Given the description of an element on the screen output the (x, y) to click on. 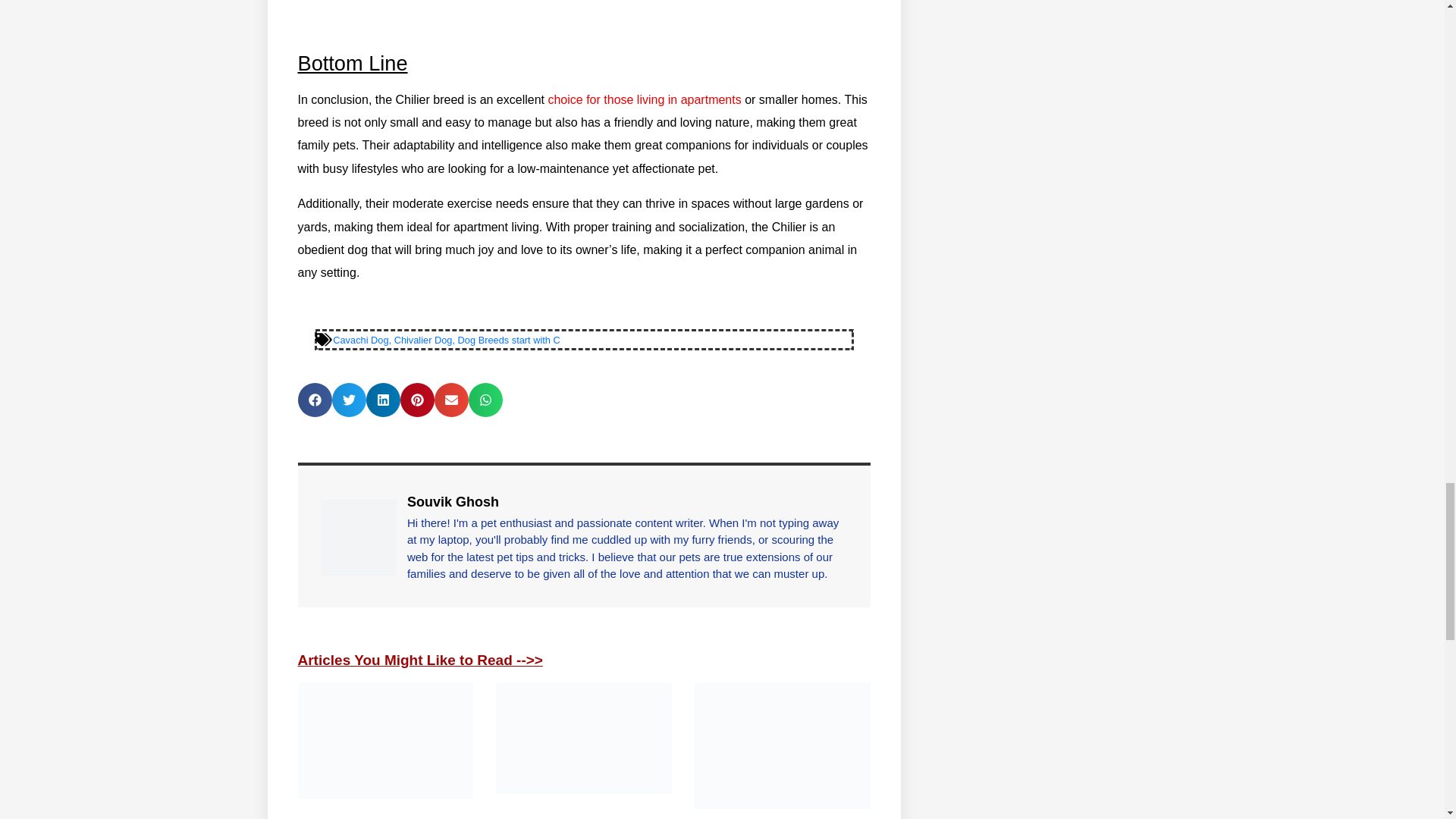
Cavachi Dog (360, 339)
choice for those living in apartments (644, 99)
Dog Breeds start with C (509, 339)
Chivalier Dog (423, 339)
Souvik Ghosh (627, 502)
